Given the description of an element on the screen output the (x, y) to click on. 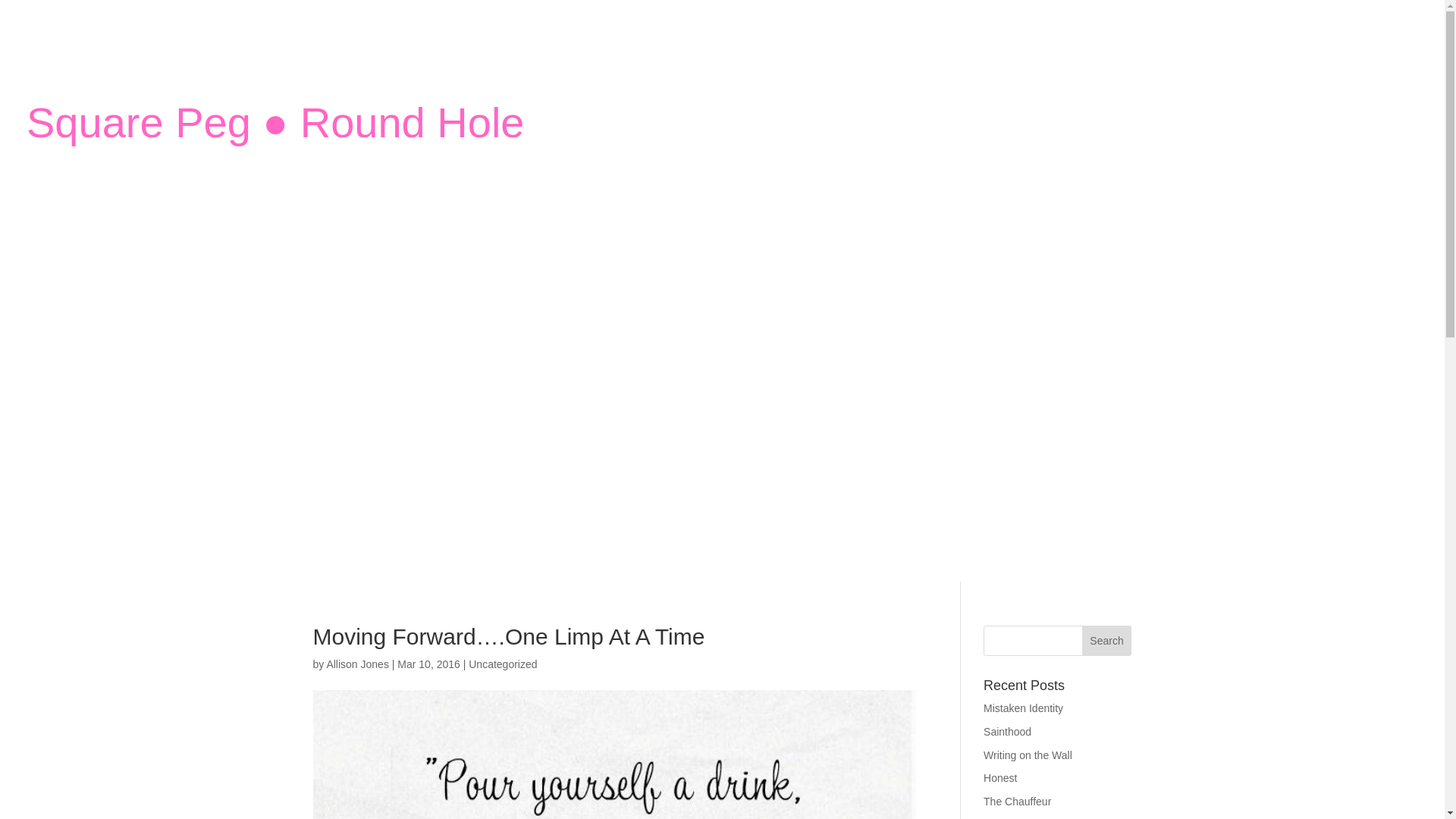
Search (1106, 640)
Posts by Allison Jones (357, 664)
Mistaken Identity (1023, 707)
The Chauffeur (1017, 801)
Writing on the Wall (1027, 755)
Honest (1000, 777)
Uncategorized (502, 664)
Search (1106, 640)
Allison Jones (357, 664)
Sainthood (1007, 731)
